Given the description of an element on the screen output the (x, y) to click on. 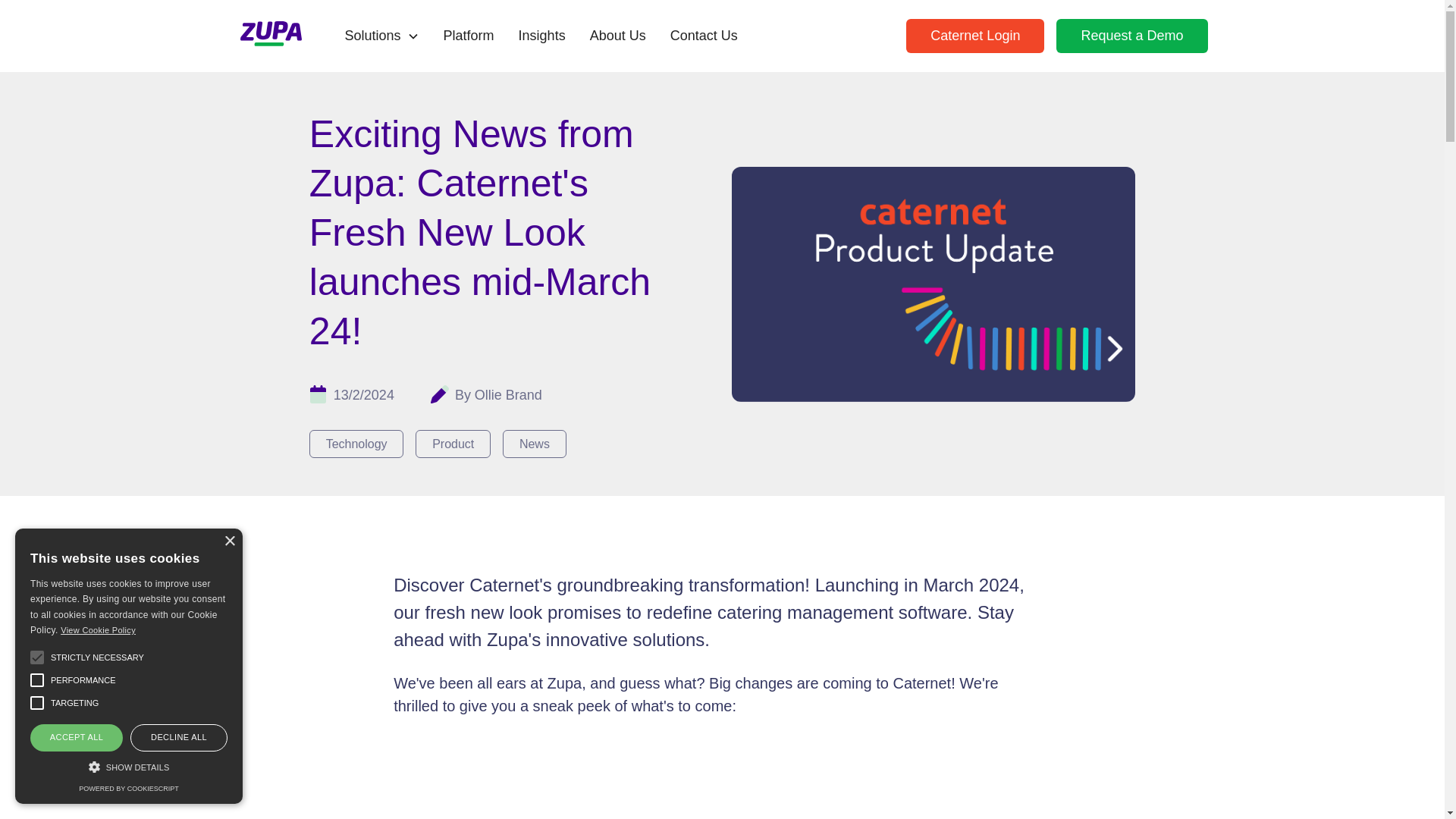
About Us (618, 35)
View Cookie Policy (98, 629)
Request a Demo (1132, 35)
POWERED BY COOKIESCRIPT (127, 788)
Platform (468, 35)
Consent Management Platform (127, 788)
Insights (542, 35)
Contact Us (703, 35)
Caternet Login (974, 35)
